Given the description of an element on the screen output the (x, y) to click on. 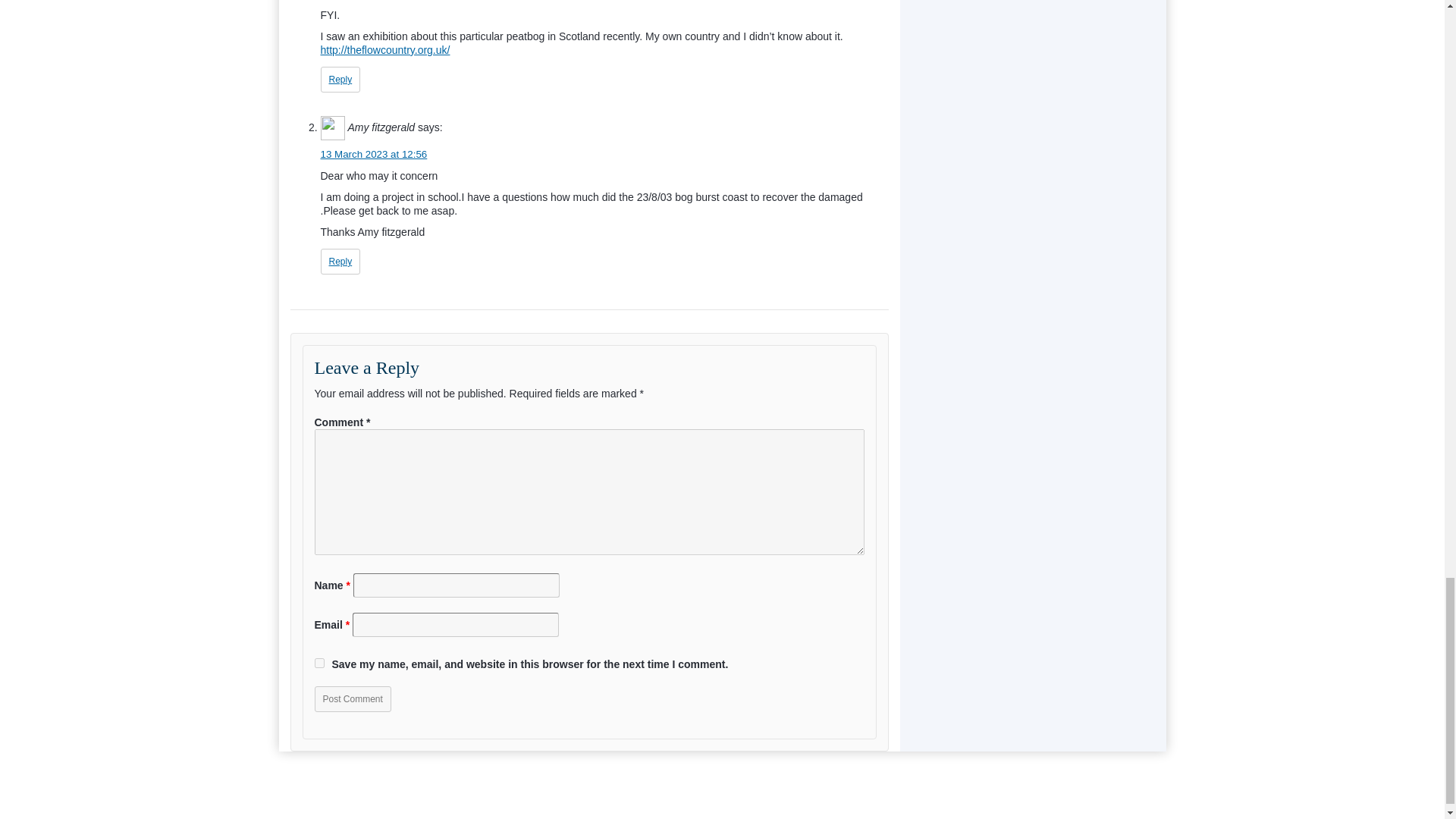
Post Comment (352, 698)
Reply (339, 261)
13 March 2023 at 12:56 (373, 153)
Post Comment (352, 698)
Reply (339, 79)
yes (318, 663)
